Given the description of an element on the screen output the (x, y) to click on. 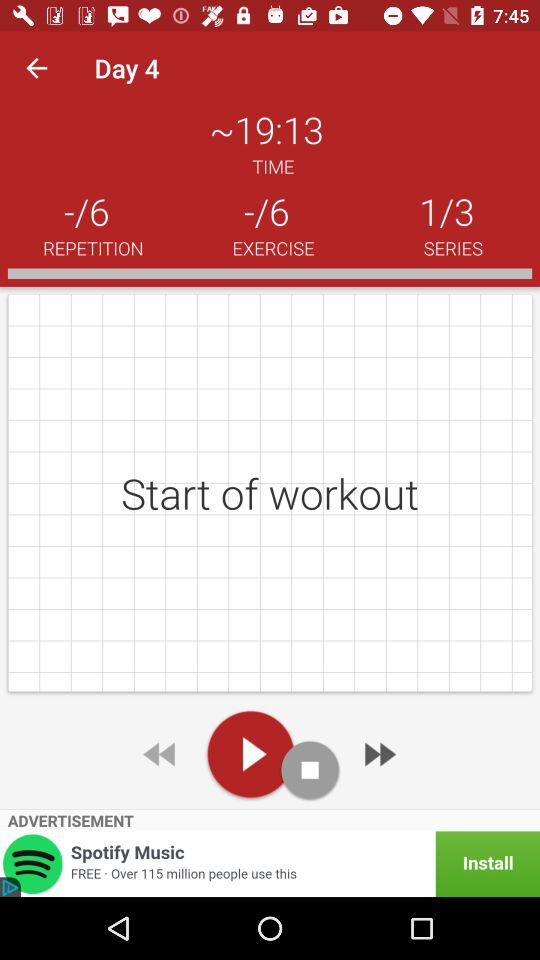
click the icon above the ~19:13 item (36, 68)
